Given the description of an element on the screen output the (x, y) to click on. 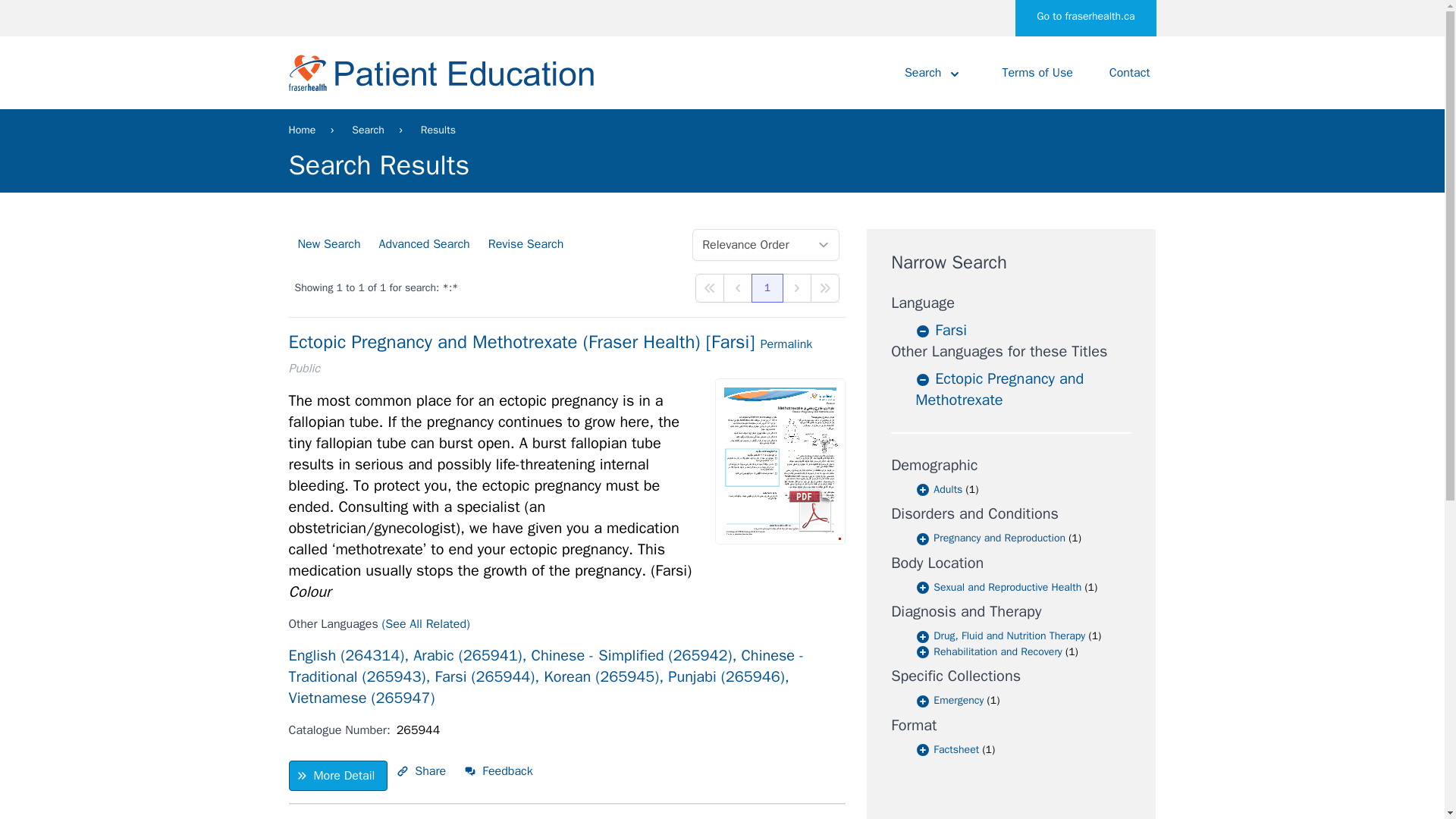
Search (933, 72)
Results (437, 129)
Go to home (441, 72)
Go to fraserhealth.ca (1085, 18)
Advanced Search (424, 244)
Fraser Health Patient Education Catalogue (441, 72)
Terms of Use (1036, 72)
New Search (328, 244)
Search (368, 129)
Revise Search (526, 244)
